Given the description of an element on the screen output the (x, y) to click on. 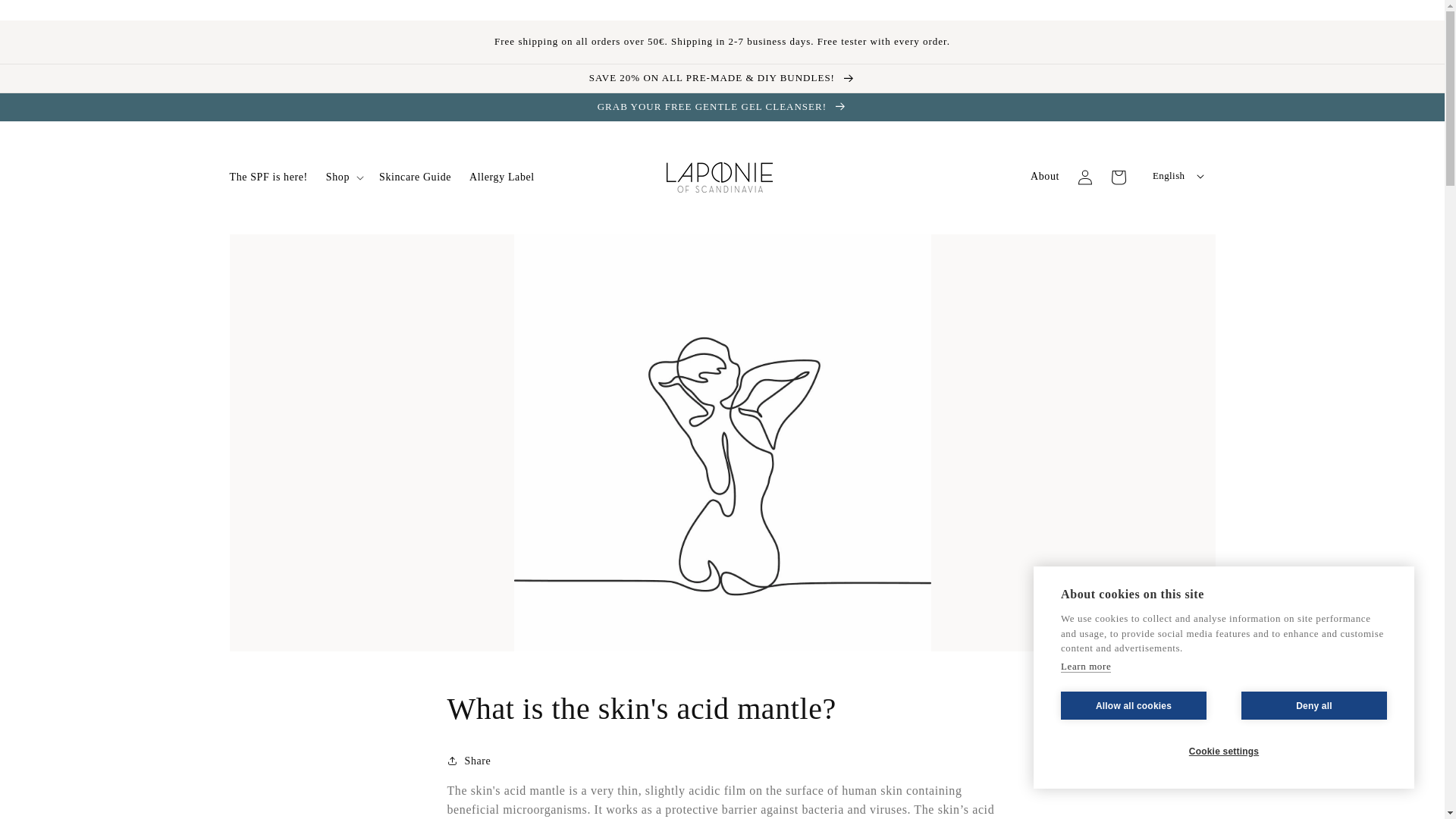
Cookie settings (1224, 750)
Allow all cookies (1134, 705)
Deny all (1314, 705)
Learn more (1085, 665)
SKIP TO CONTENT (45, 17)
